Given the description of an element on the screen output the (x, y) to click on. 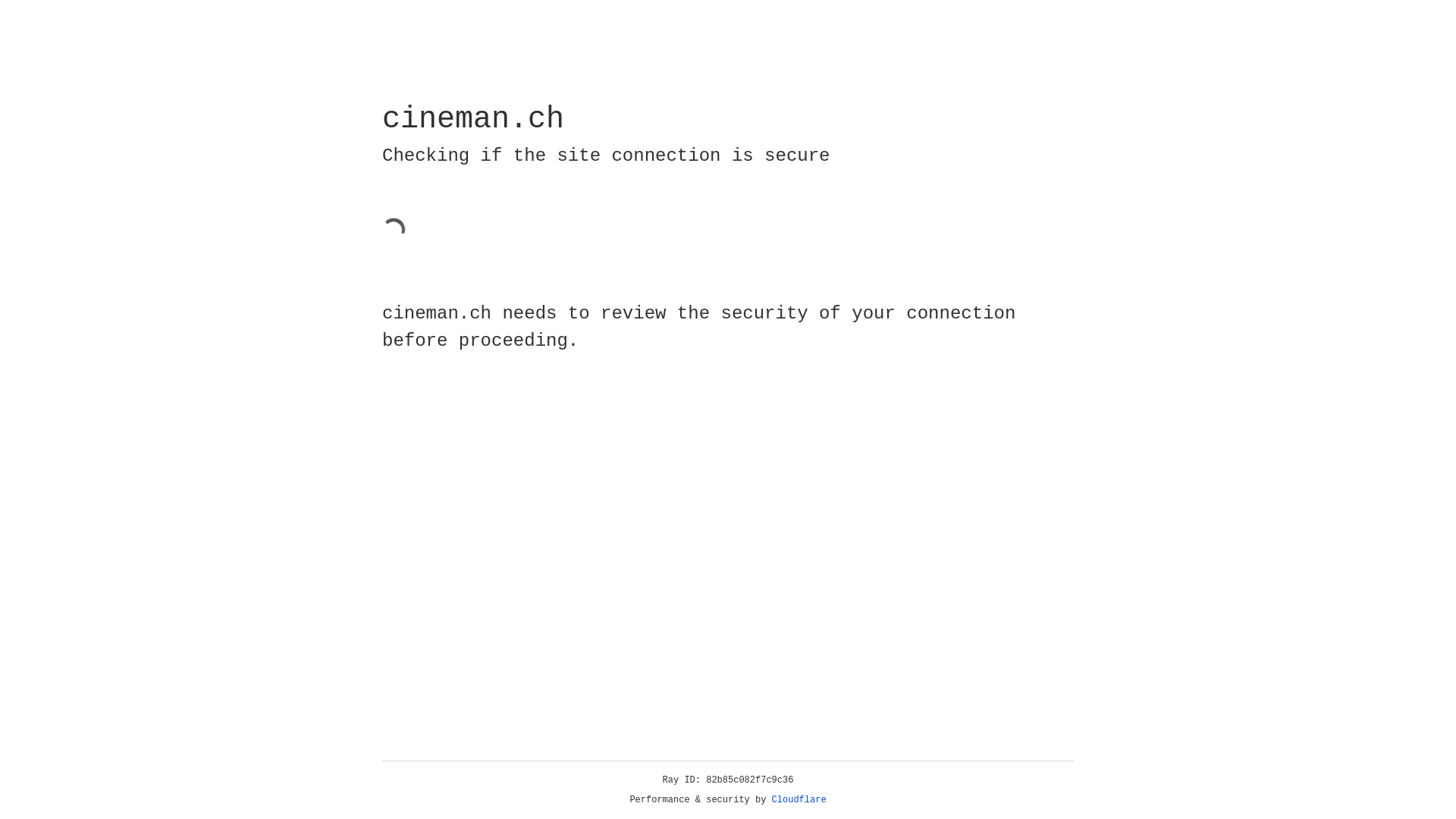
Cloudflare Element type: text (798, 799)
